Given the description of an element on the screen output the (x, y) to click on. 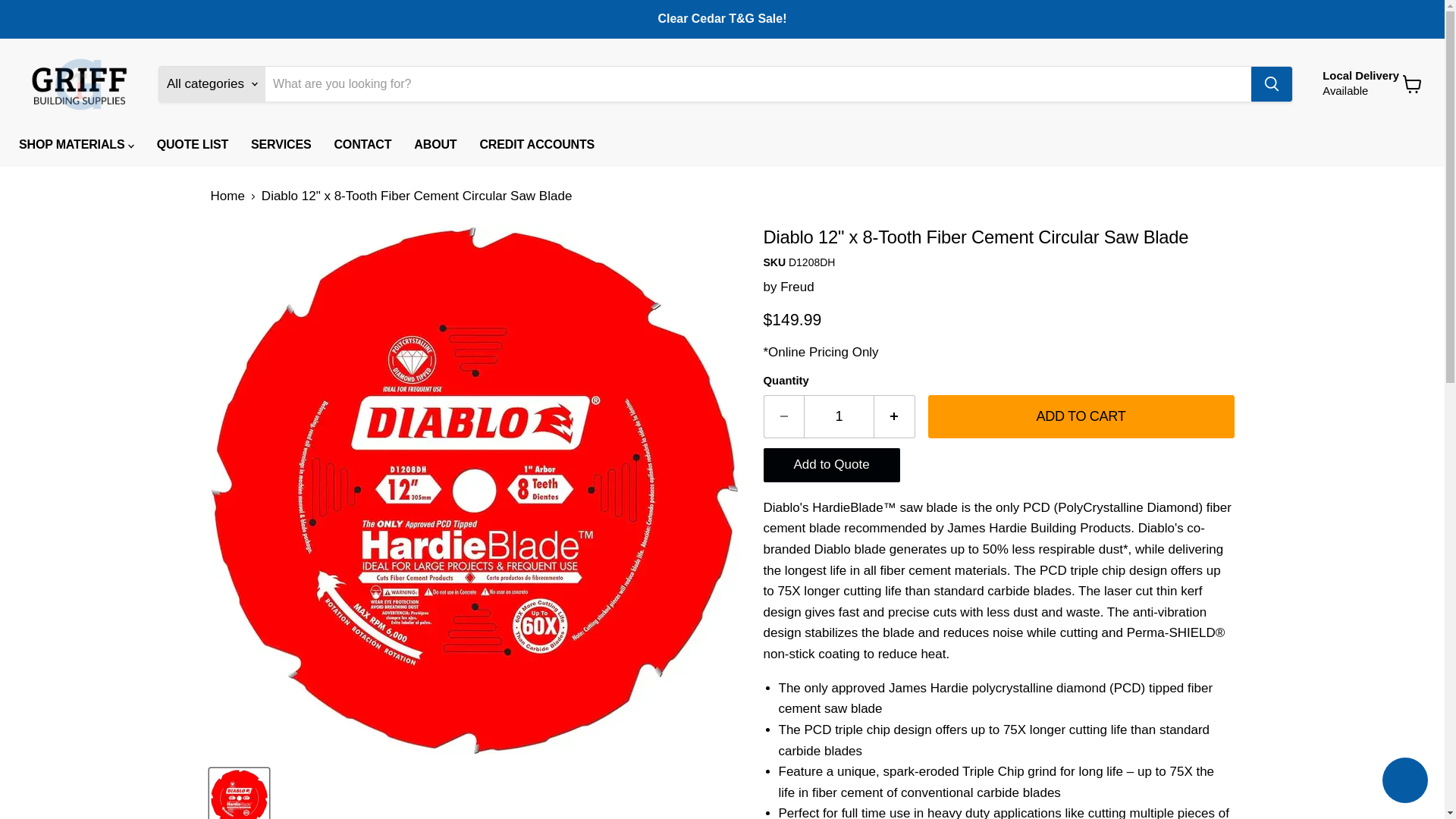
1 (1360, 83)
Shopify online store chat (839, 416)
Freud (1404, 781)
View cart (796, 287)
